Given the description of an element on the screen output the (x, y) to click on. 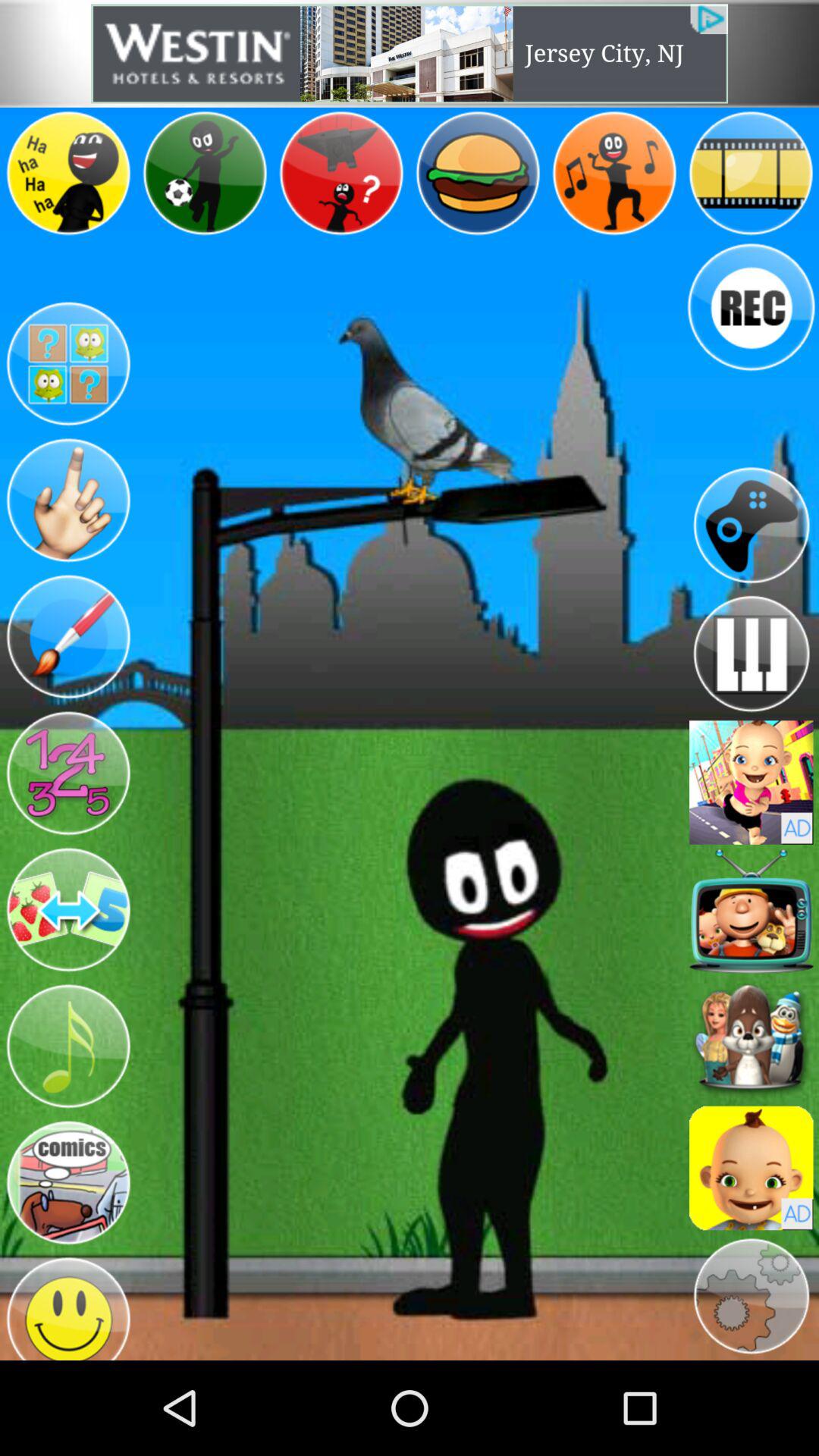
settings app (751, 1296)
